Given the description of an element on the screen output the (x, y) to click on. 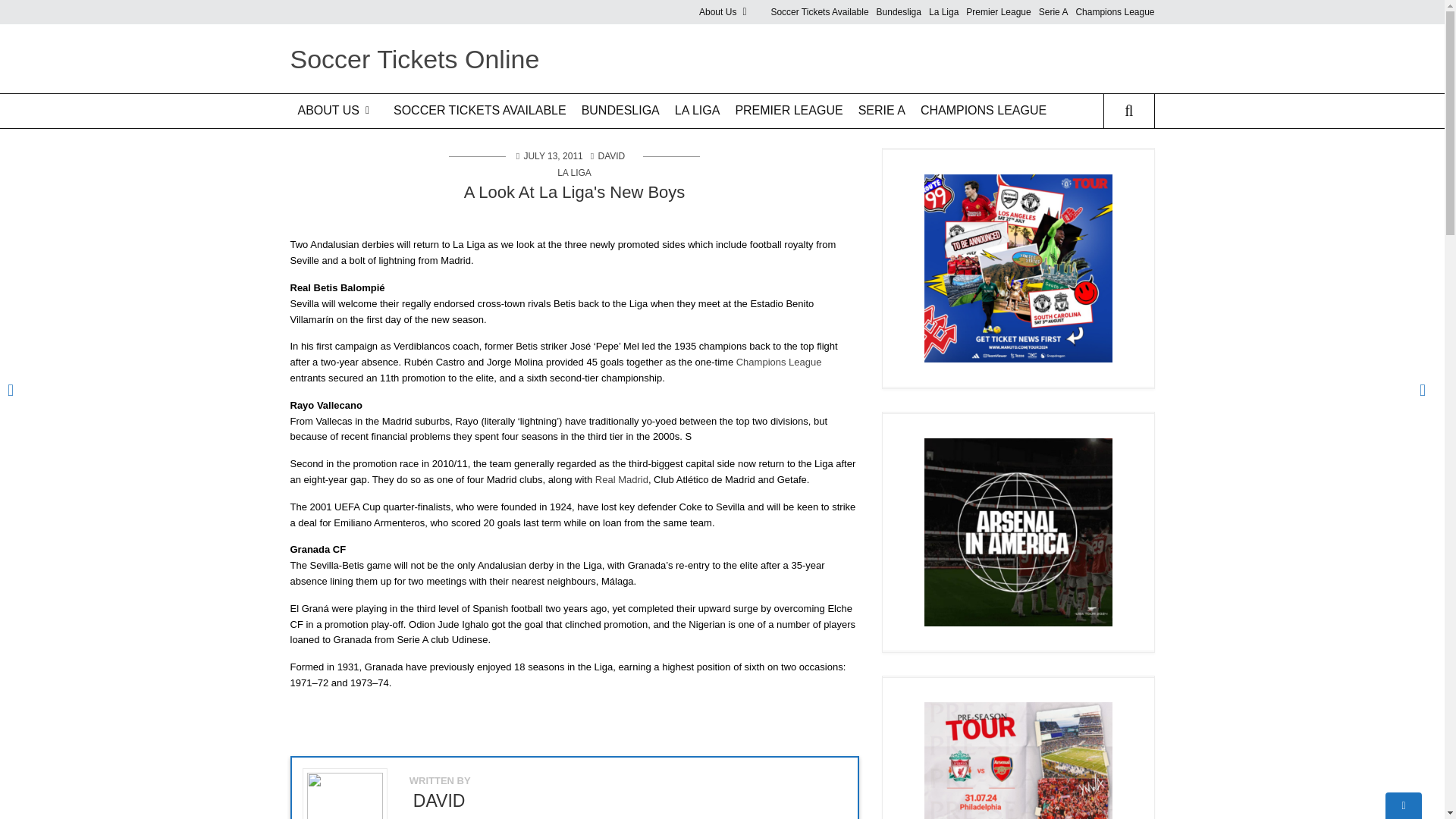
Soccer Tickets Online (413, 59)
SERIE A (881, 110)
SOCCER TICKETS AVAILABLE (479, 110)
Terms Of Use (755, 44)
Champions League (779, 361)
Real Madrid (621, 479)
Privacy (755, 70)
CHAMPIONS LEAGUE (983, 110)
Champions League (1114, 12)
Premier League (998, 12)
